Given the description of an element on the screen output the (x, y) to click on. 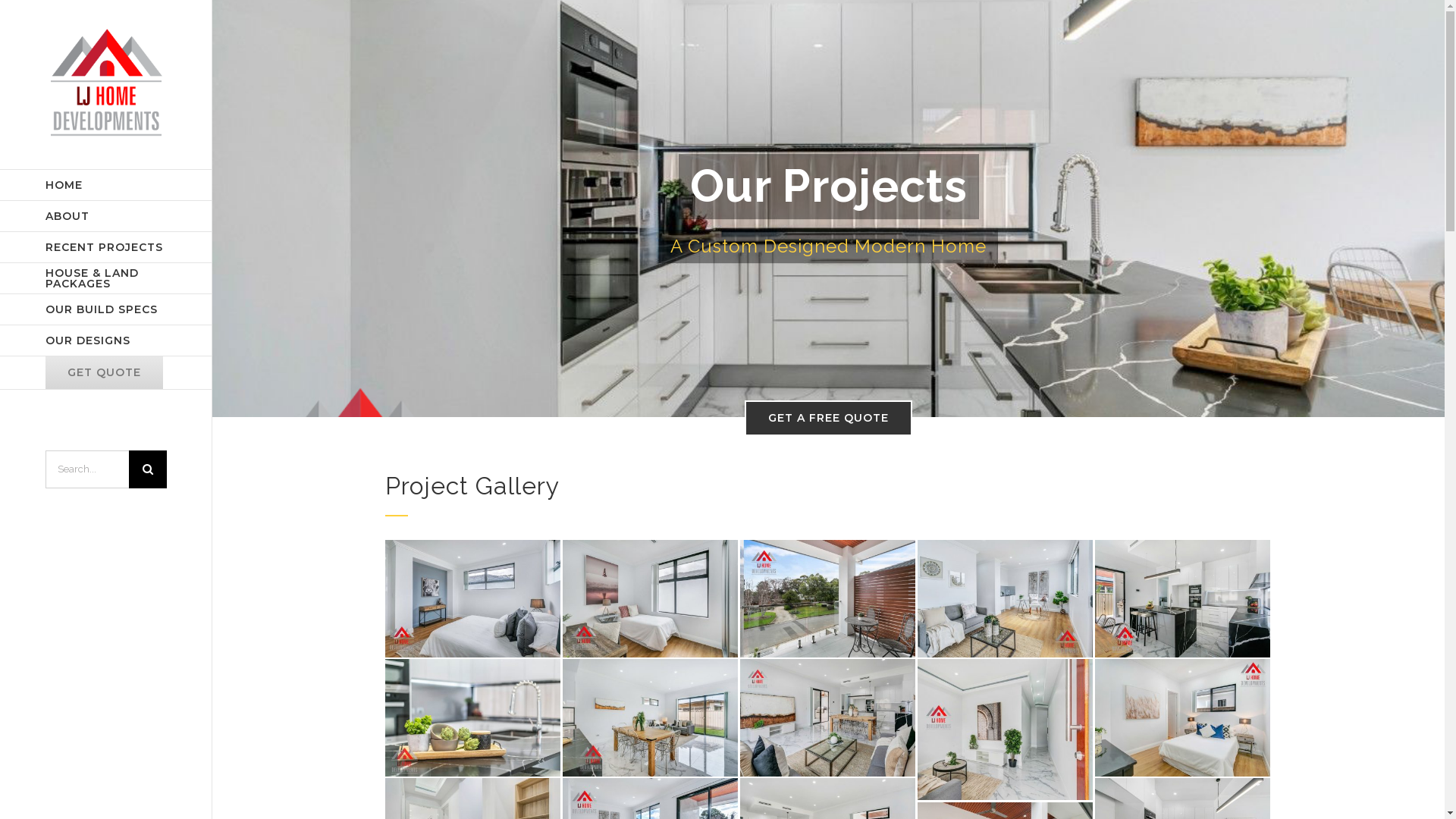
RECENT PROJECTS Element type: text (106, 247)
GET QUOTE Element type: text (106, 372)
OUR DESIGNS Element type: text (106, 340)
ABOUT Element type: text (106, 216)
3 Element type: hover (1182, 597)
7 Element type: hover (827, 716)
9 Element type: hover (1182, 716)
GET A FREE QUOTE Element type: text (828, 418)
5 Element type: hover (472, 716)
14 Element type: hover (827, 597)
15 Element type: hover (649, 597)
HOME Element type: text (106, 184)
6 Element type: hover (649, 716)
18 Element type: hover (472, 597)
13 Element type: hover (1004, 597)
OUR BUILD SPECS Element type: text (106, 309)
8 Element type: hover (1004, 729)
HOUSE & LAND PACKAGES Element type: text (106, 278)
